Given the description of an element on the screen output the (x, y) to click on. 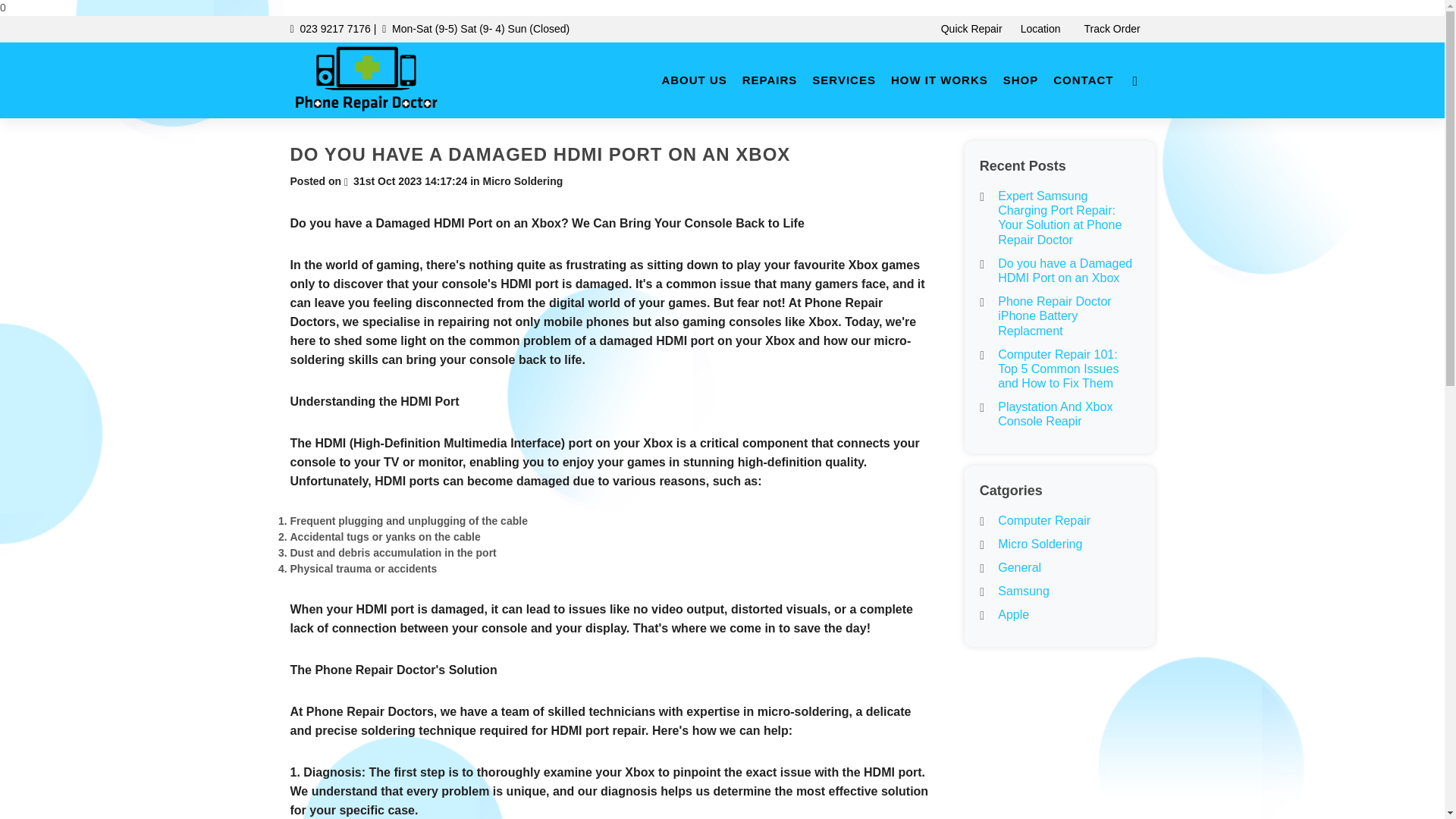
Phone Repair Doctor iPhone Battery Replacment (1053, 315)
Location  (1043, 28)
Quick Repair (971, 28)
Apple (1013, 614)
Computer Repair (1043, 520)
Micro Soldering (1039, 543)
SERVICES (844, 79)
023 9217 7176 (334, 28)
Samsung (1023, 590)
REPAIRS (769, 79)
HOW IT WORKS (939, 79)
Playstation And Xbox Console Reapir (1054, 413)
General (1019, 567)
ABOUT US (693, 79)
